Given the description of an element on the screen output the (x, y) to click on. 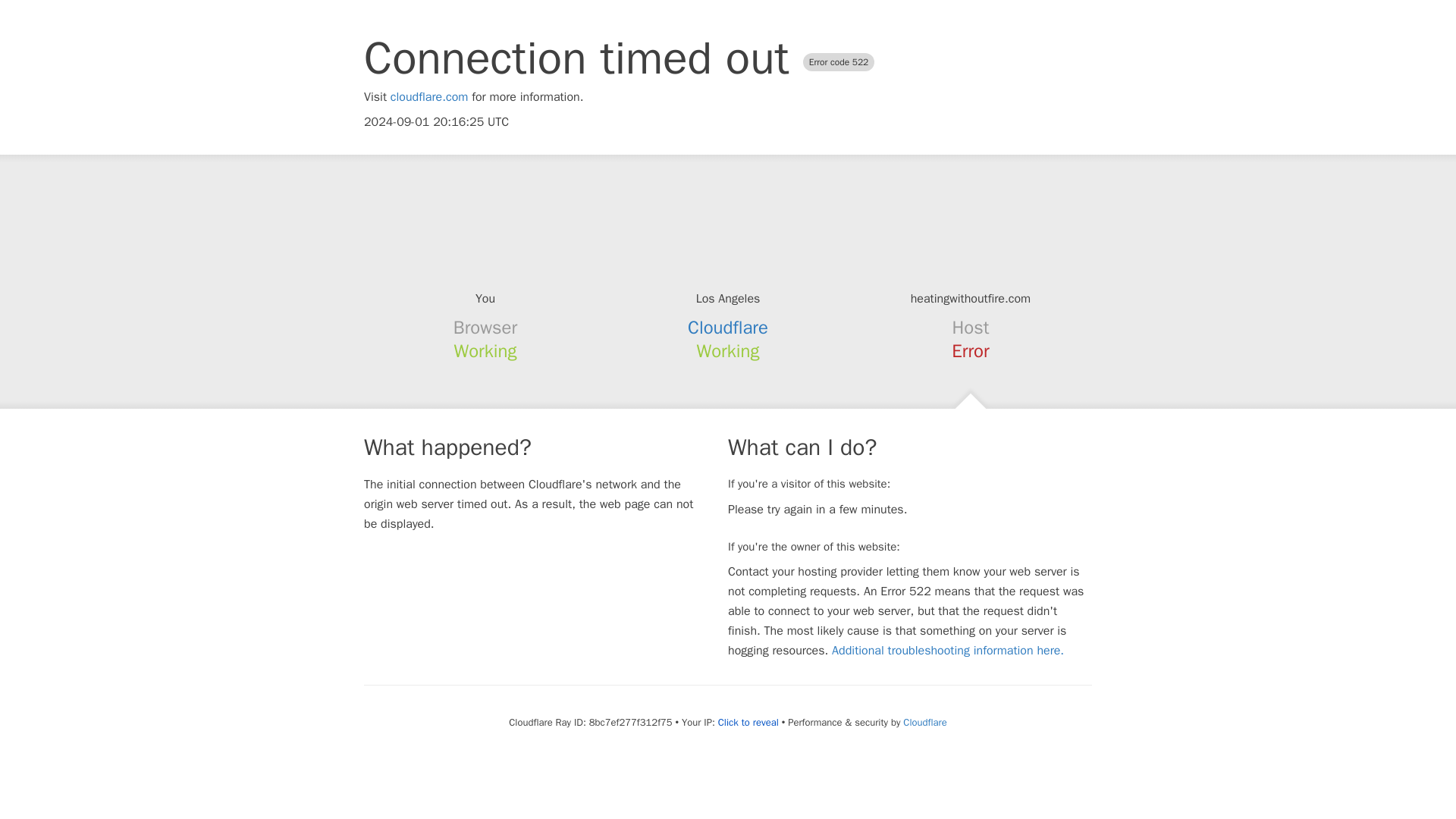
Cloudflare (727, 327)
cloudflare.com (429, 96)
Additional troubleshooting information here. (947, 650)
Click to reveal (747, 722)
Cloudflare (924, 721)
